Given the description of an element on the screen output the (x, y) to click on. 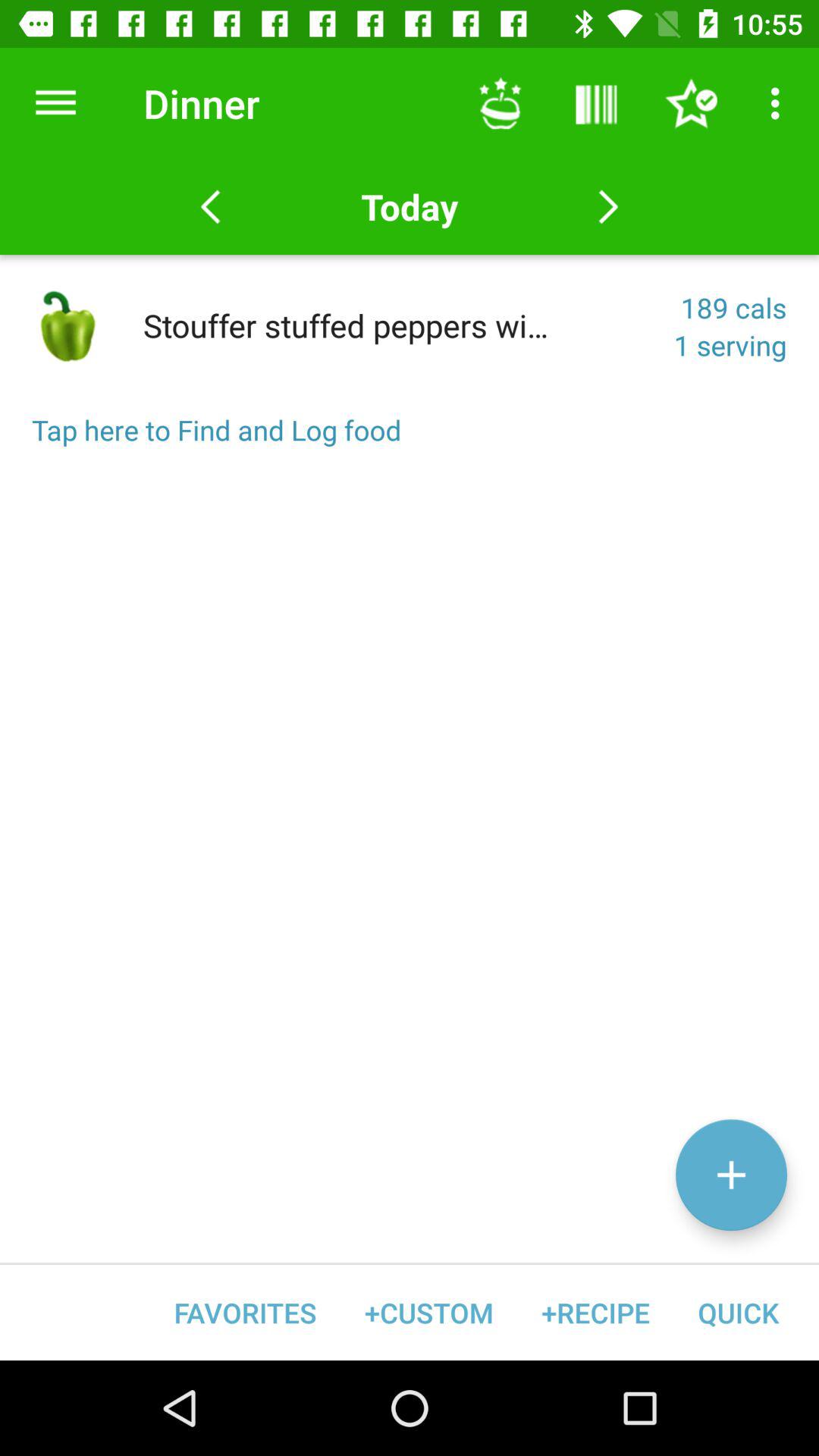
tap the +custom icon (428, 1312)
